Given the description of an element on the screen output the (x, y) to click on. 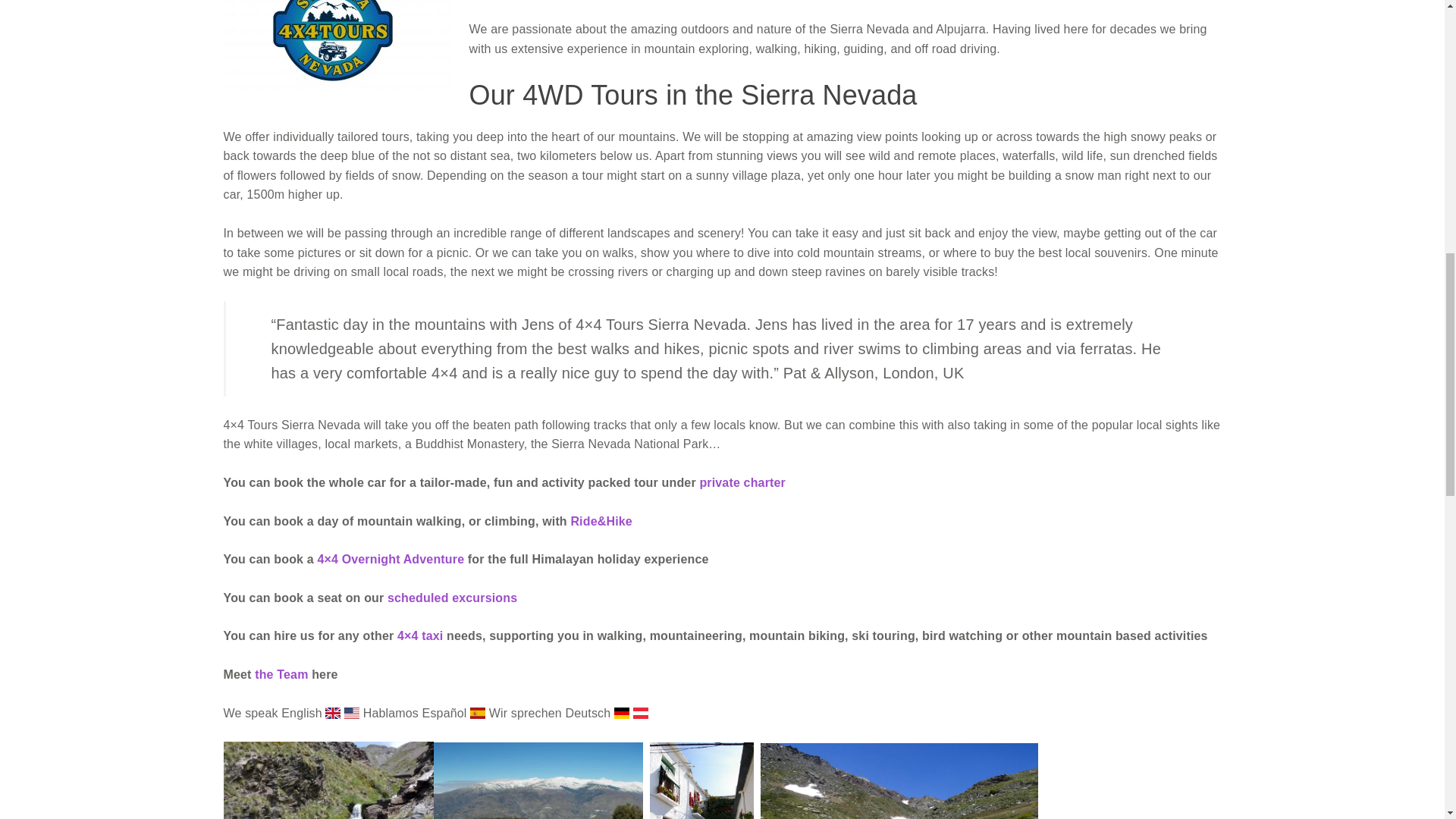
the Team (280, 674)
private charter (742, 481)
scheduled excursions (451, 597)
